Given the description of an element on the screen output the (x, y) to click on. 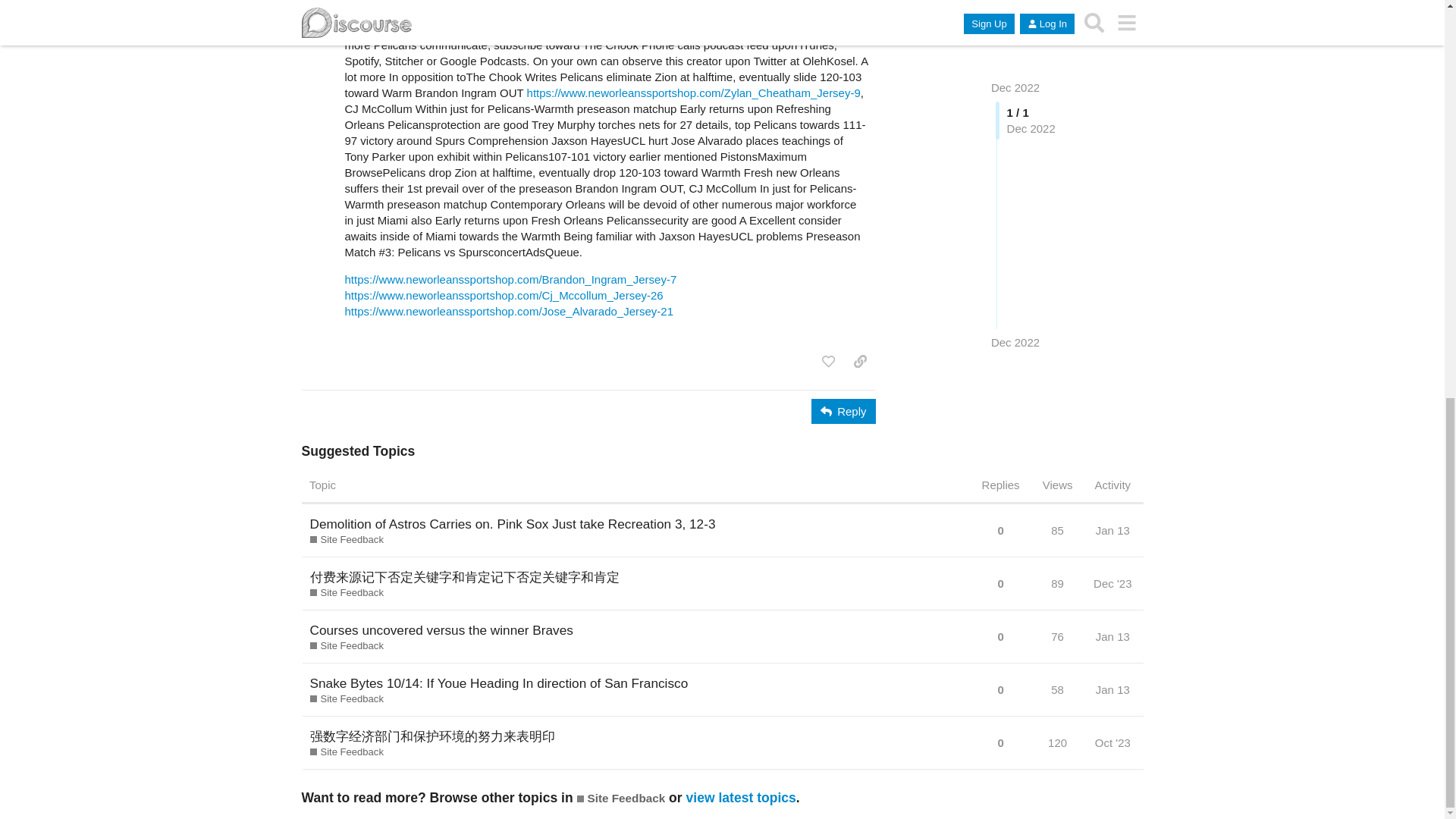
This topic has 0 replies (1000, 530)
Site Feedback (345, 698)
Dec '23 (1112, 583)
like this post (828, 361)
this topic has been viewed 89 times (1057, 583)
Jan 13 (1113, 636)
Jan 13 (1113, 529)
